Given the description of an element on the screen output the (x, y) to click on. 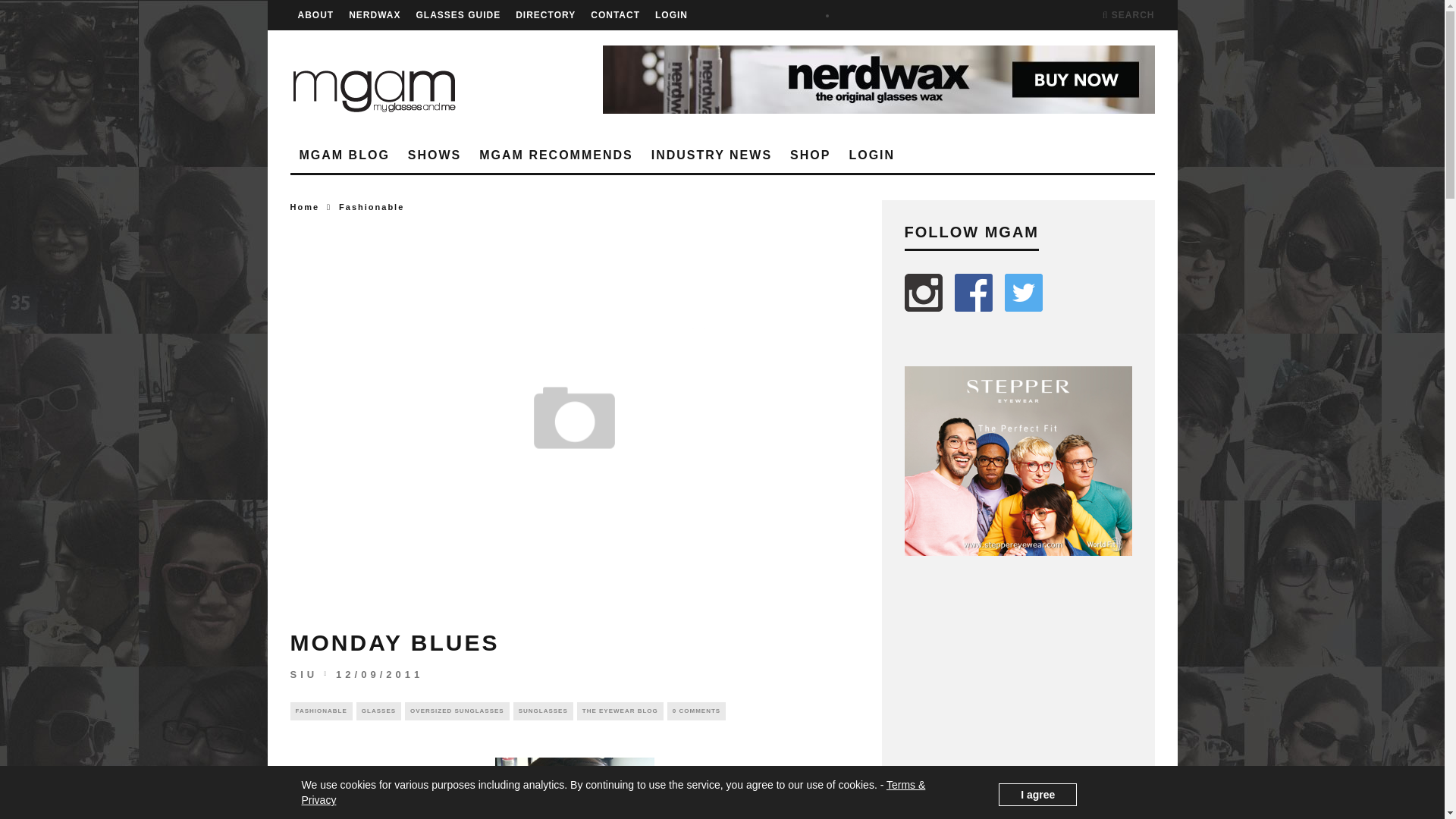
View all posts in The Eyewear Blog (619, 710)
Buy your Nerdwax here (878, 79)
CONTACT (615, 15)
View all posts in Fashionable (371, 206)
ABOUT (315, 15)
DIRECTORY (545, 15)
MGAM BLOG (343, 155)
Login (671, 15)
View all posts in Glasses (378, 710)
Search (1128, 15)
View all posts in Fashionable (320, 710)
Login (872, 155)
View all posts in Oversized Sunglasses (456, 710)
GLASSES GUIDE (458, 15)
NERDWAX (374, 15)
